Given the description of an element on the screen output the (x, y) to click on. 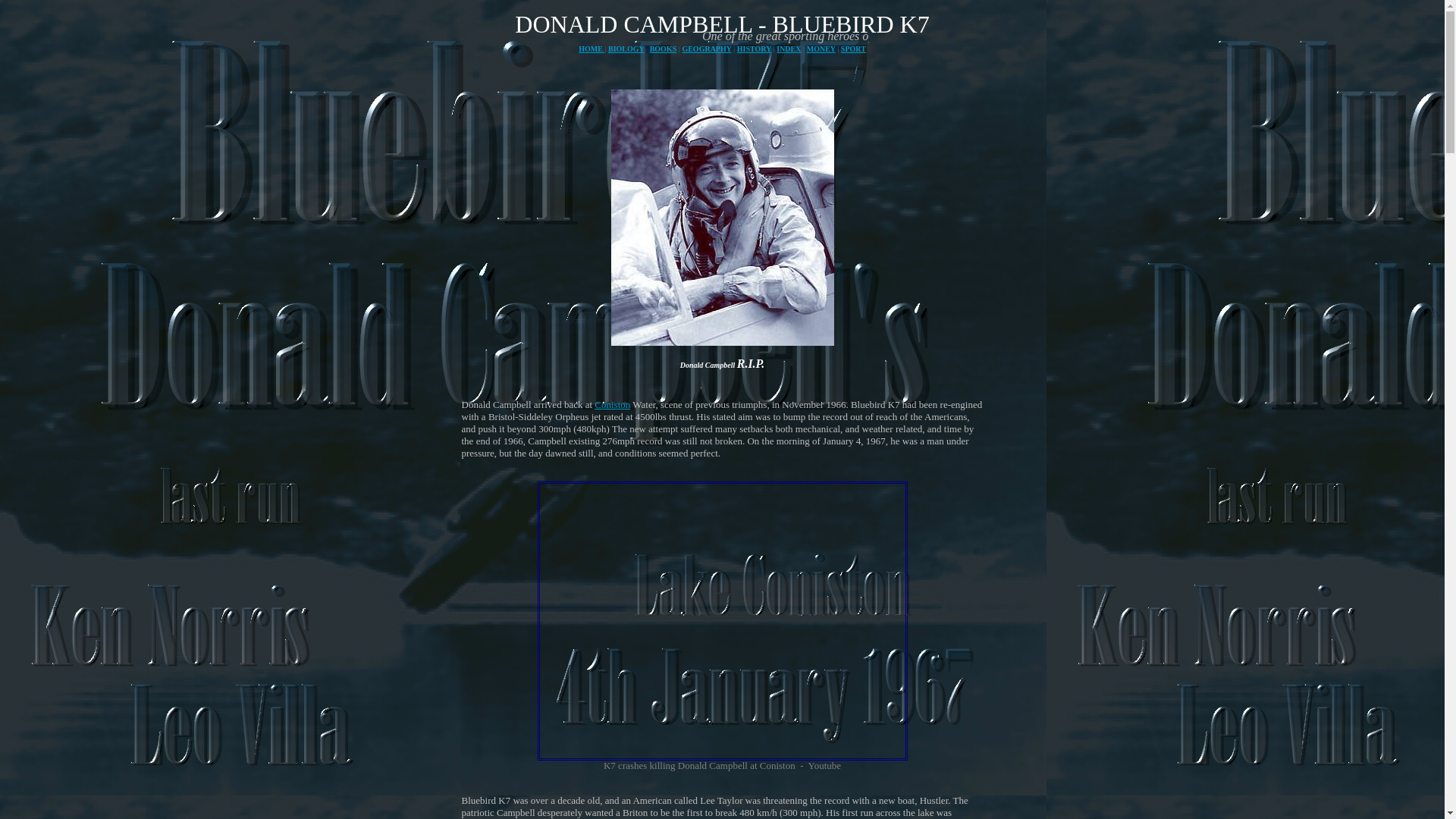
GEOGRAPHY (705, 49)
Coniston (612, 404)
HOME (591, 49)
INDEX (788, 49)
HISTORY (753, 49)
SPORT (853, 49)
BIOLOGY (625, 49)
BOOKS (663, 49)
MONEY (820, 49)
